Given the description of an element on the screen output the (x, y) to click on. 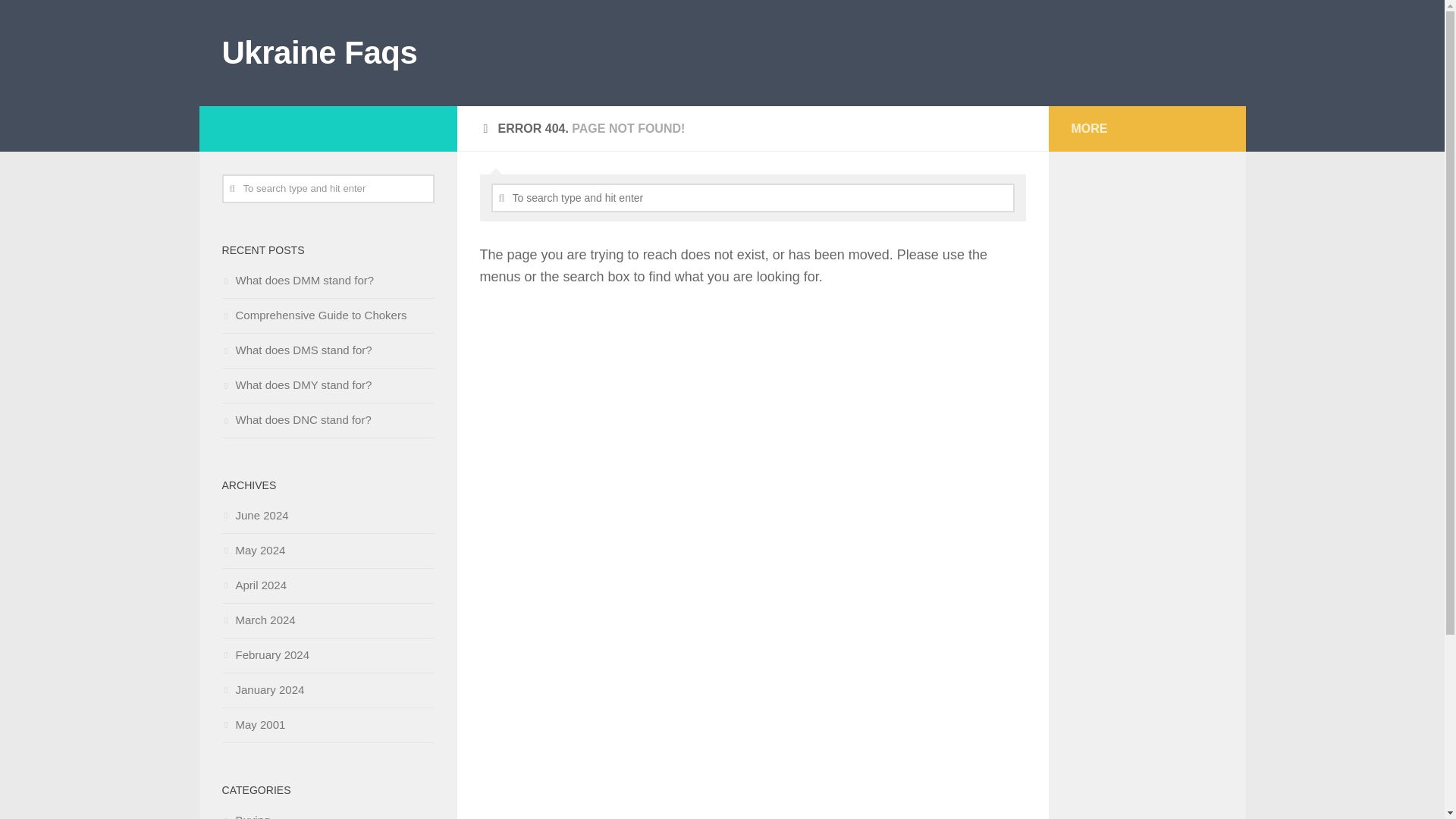
April 2024 (253, 584)
What does DMS stand for? (296, 349)
May 2024 (253, 549)
What does DMY stand for? (296, 384)
February 2024 (264, 654)
To search type and hit enter (327, 188)
March 2024 (258, 619)
What does DNC stand for? (296, 419)
January 2024 (262, 689)
To search type and hit enter (753, 197)
